Given the description of an element on the screen output the (x, y) to click on. 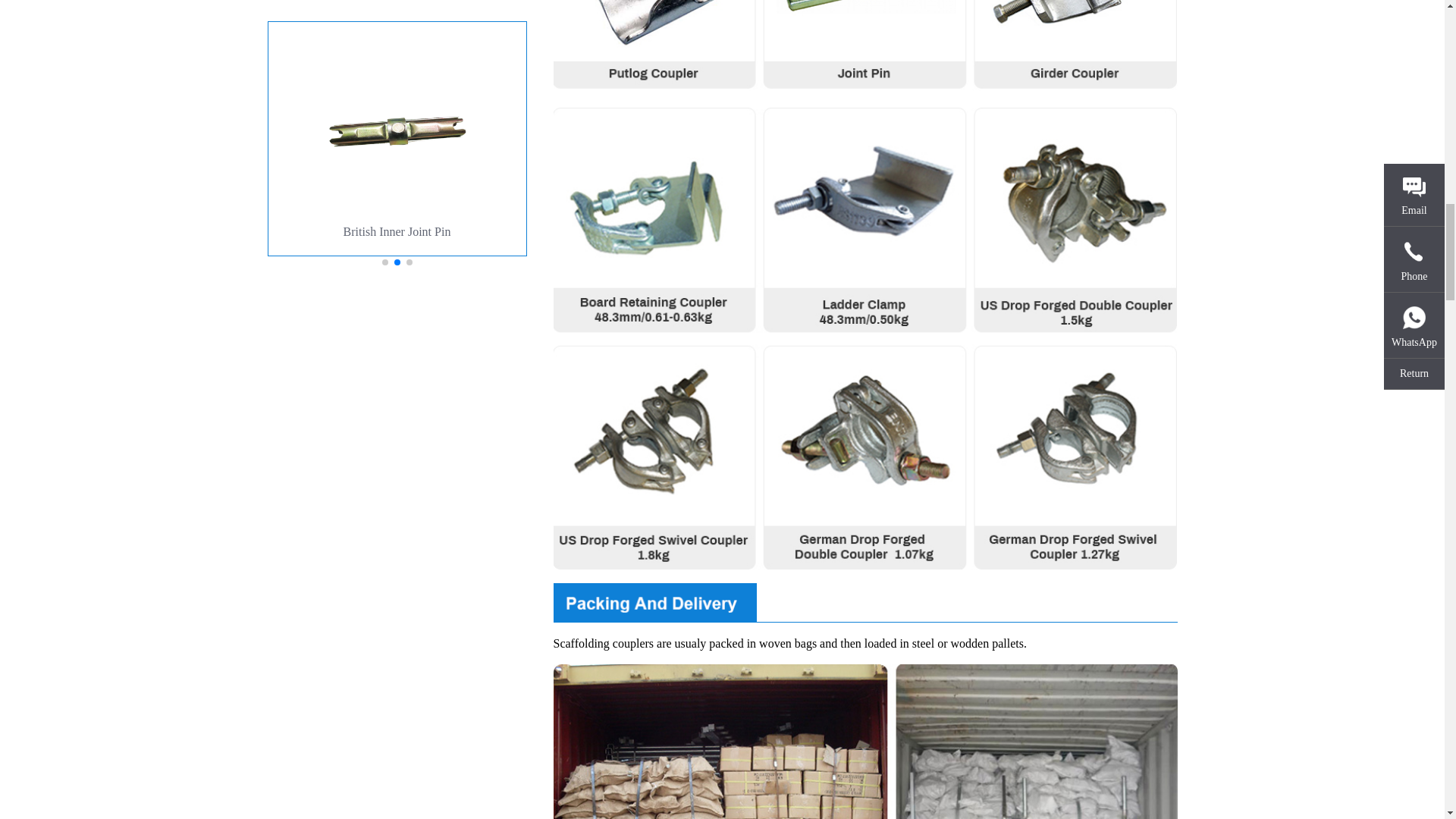
0 (136, 138)
1.jpg (865, 741)
packing.png (865, 602)
British Inner Joint Pin (395, 138)
img.jpg (865, 47)
